Given the description of an element on the screen output the (x, y) to click on. 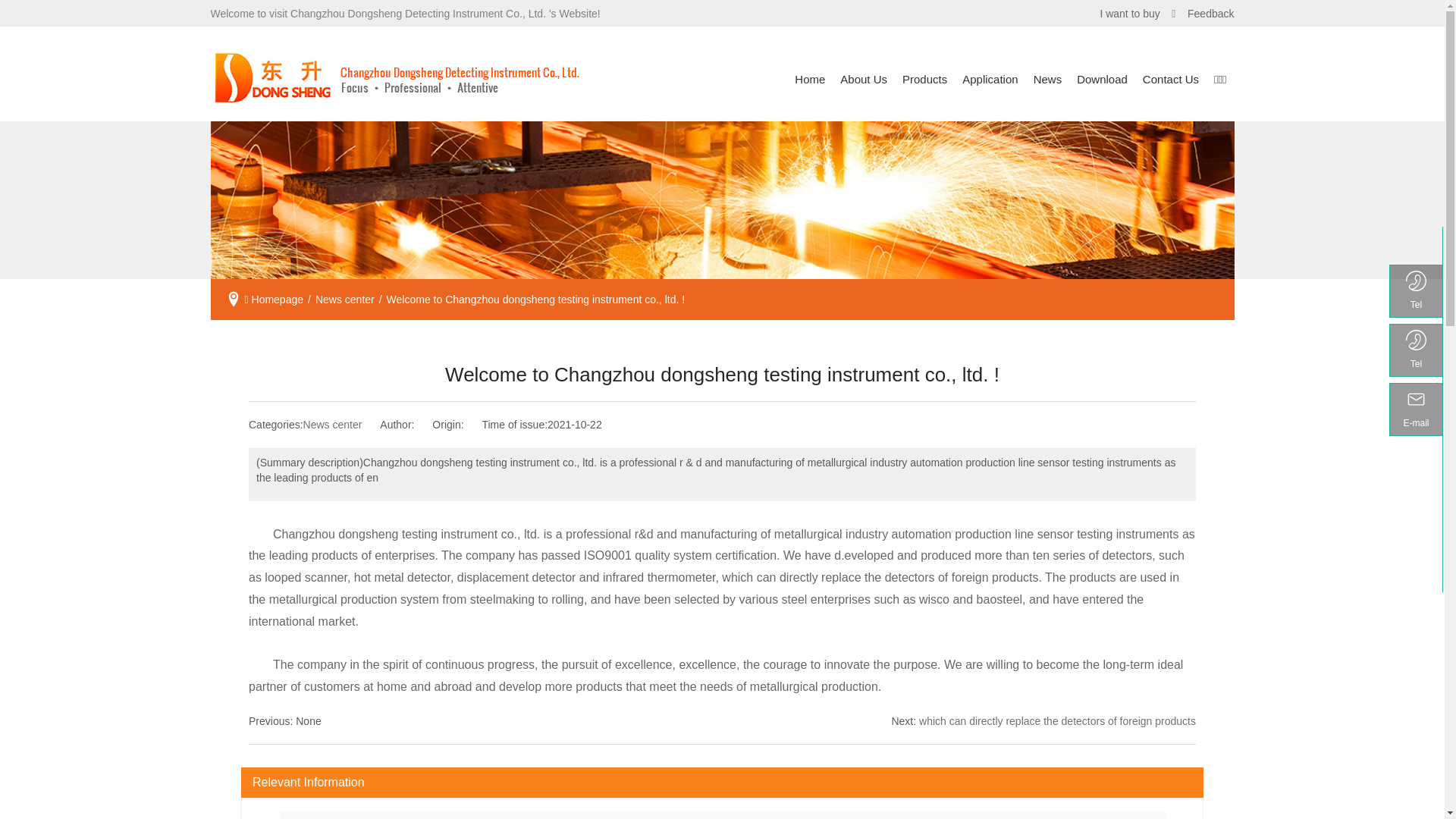
Download Element type: text (1102, 79)
News center Element type: text (332, 424)
Contact Us Element type: text (1170, 79)
News Element type: text (1048, 79)
News center Element type: text (344, 299)
Homepage Element type: text (277, 299)
E-mail Element type: text (1416, 409)
About Us Element type: text (863, 79)
which can directly replace the detectors of foreign products Element type: text (1057, 721)
dongsheng Element type: hover (722, 199)
Home Element type: text (809, 79)
 Feedback Element type: text (1208, 13)
Tel Element type: text (1416, 290)
logo Element type: hover (395, 79)
Tel Element type: text (1416, 350)
Application Element type: text (989, 79)
I want to buy   Element type: text (1132, 13)
Products Element type: text (924, 79)
